Given the description of an element on the screen output the (x, y) to click on. 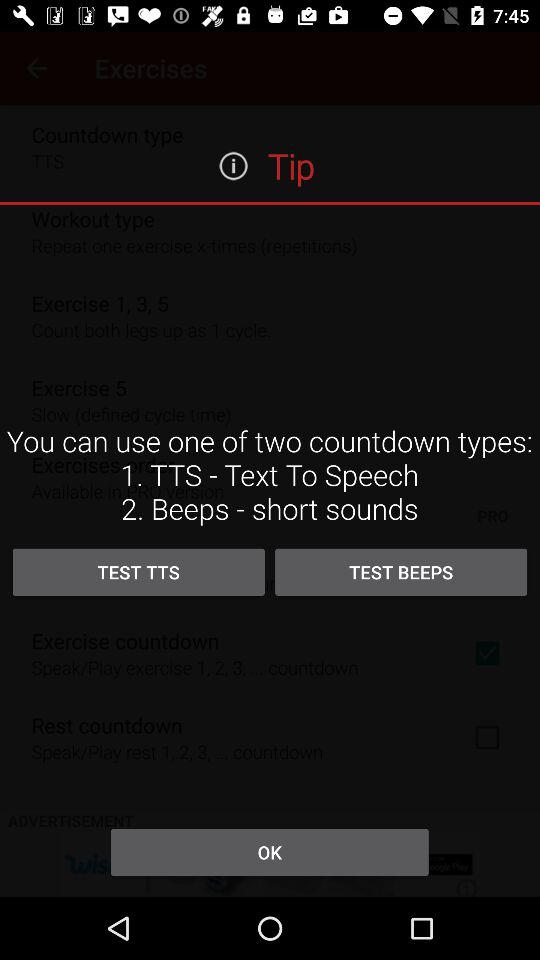
press test beeps icon (401, 571)
